Given the description of an element on the screen output the (x, y) to click on. 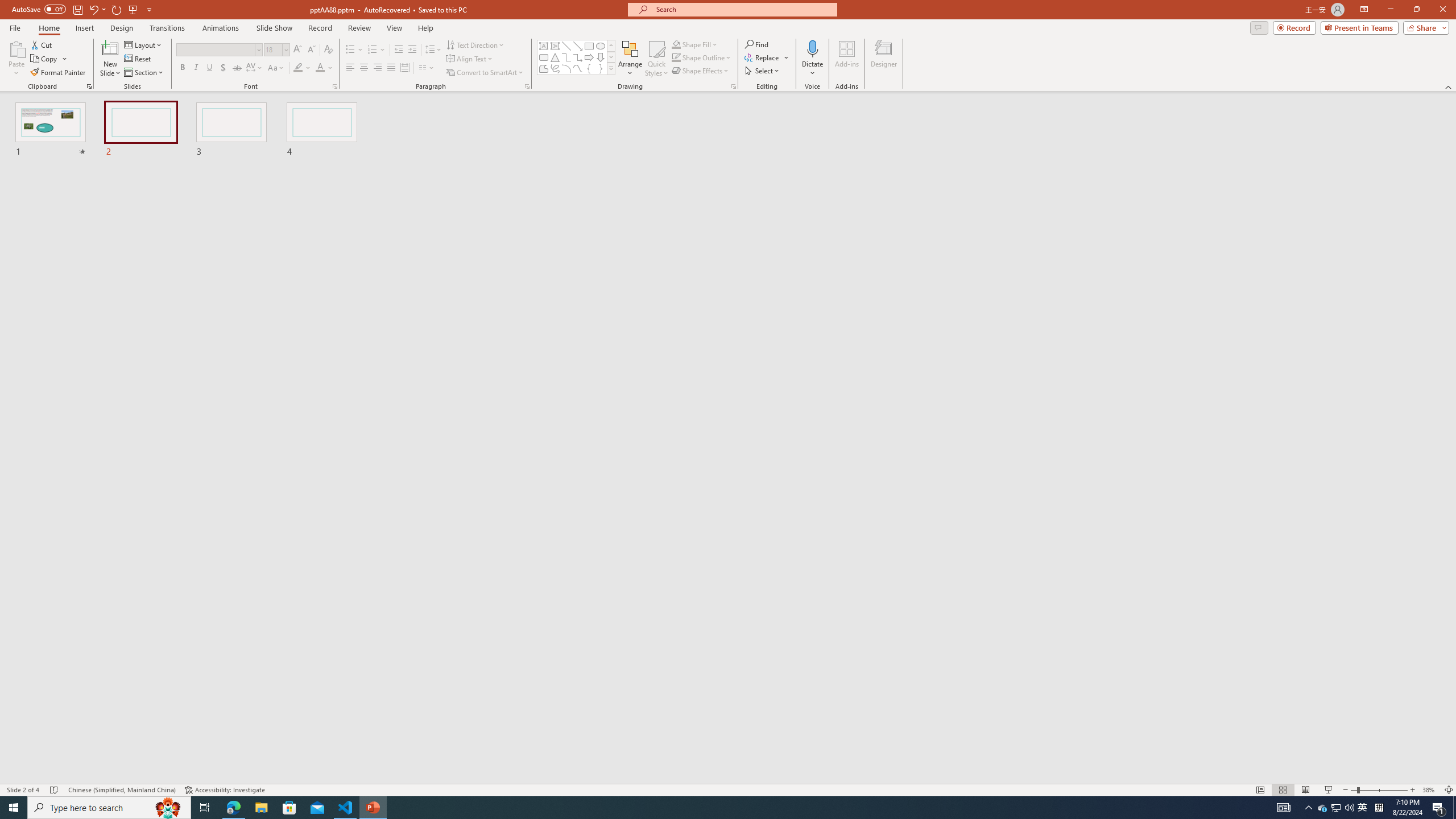
Shape Fill Aqua, Accent 2 (675, 44)
